Given the description of an element on the screen output the (x, y) to click on. 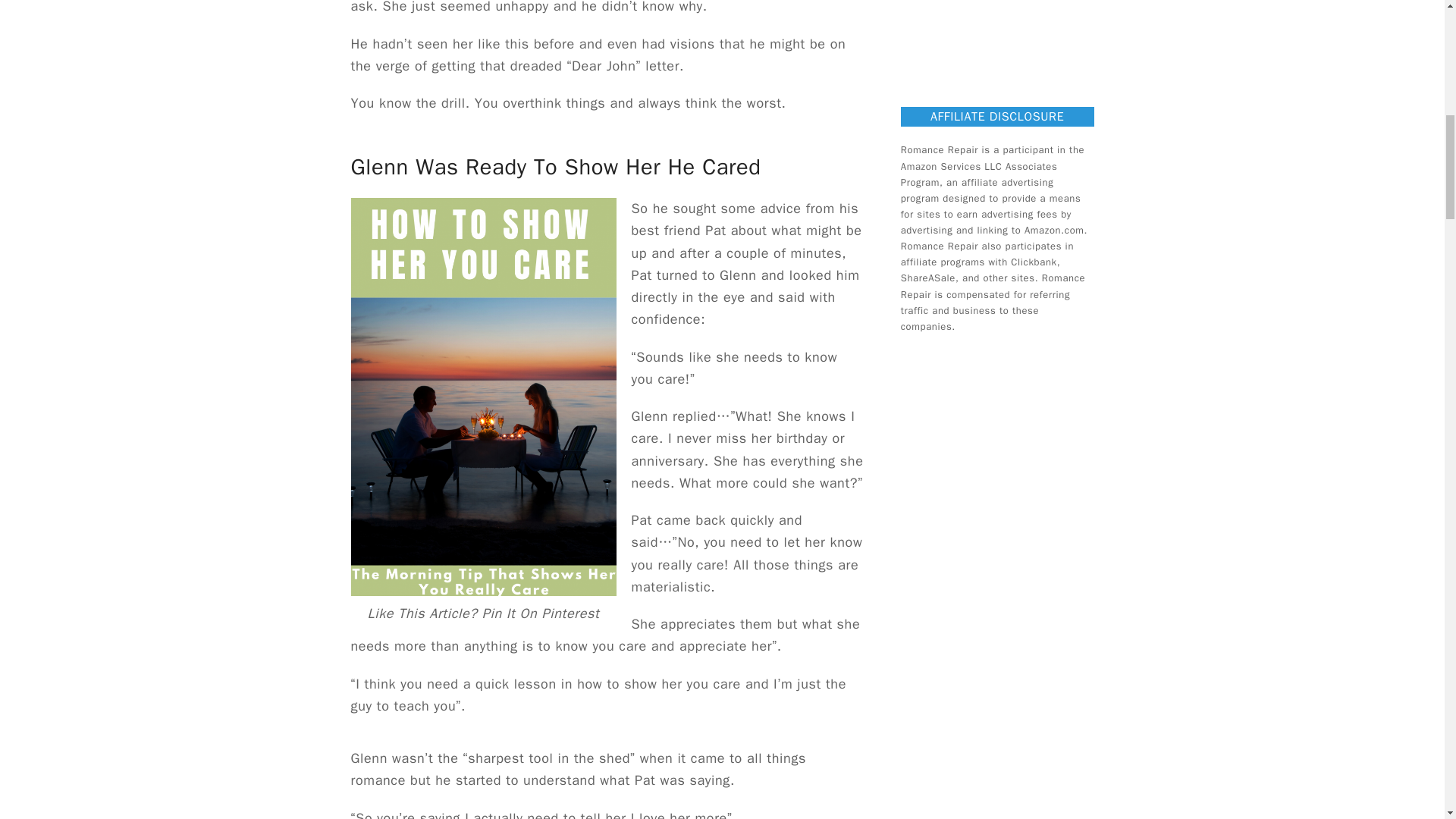
Advertisement (1019, 42)
